Given the description of an element on the screen output the (x, y) to click on. 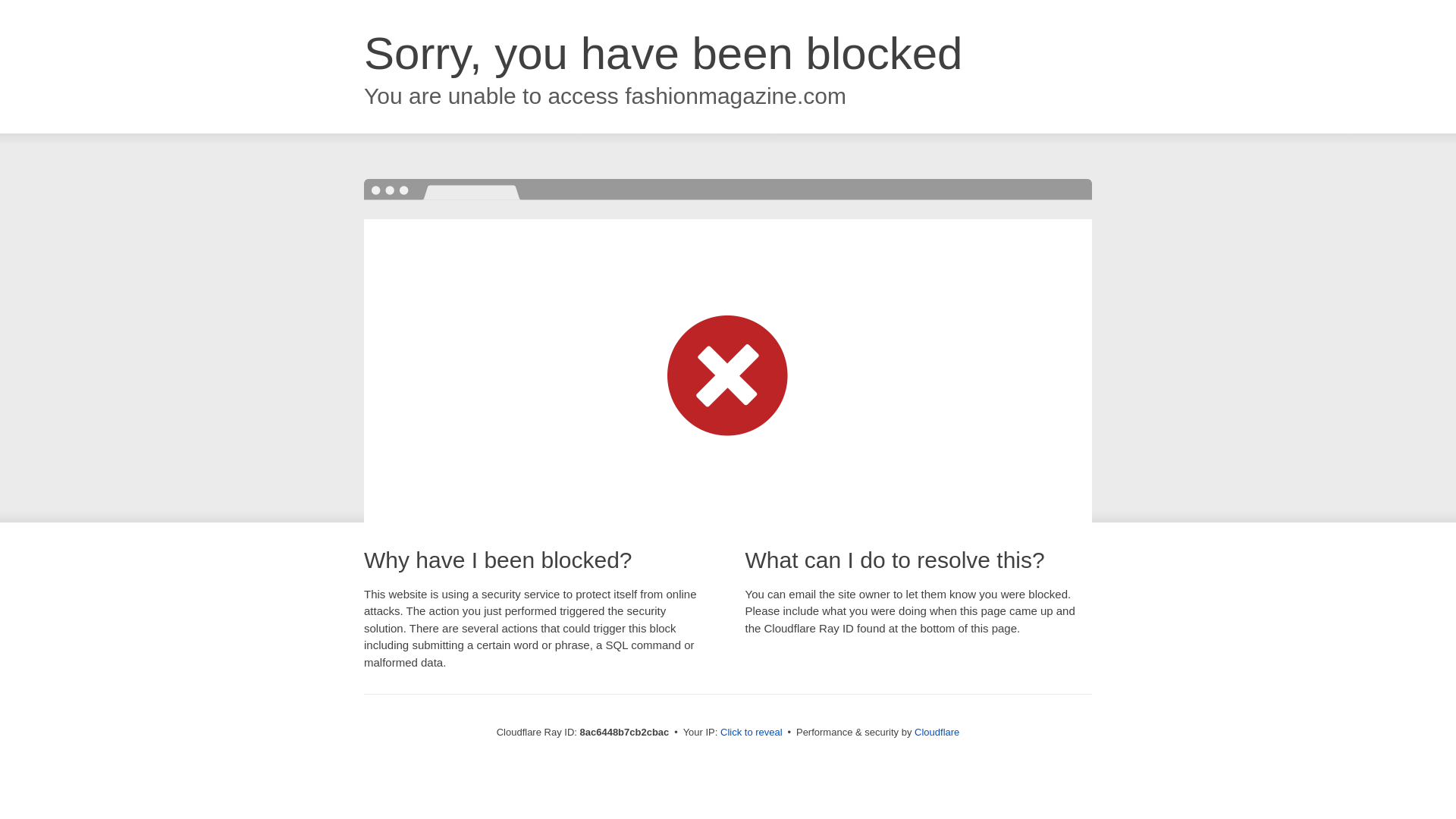
Click to reveal (751, 732)
Cloudflare (936, 731)
